Given the description of an element on the screen output the (x, y) to click on. 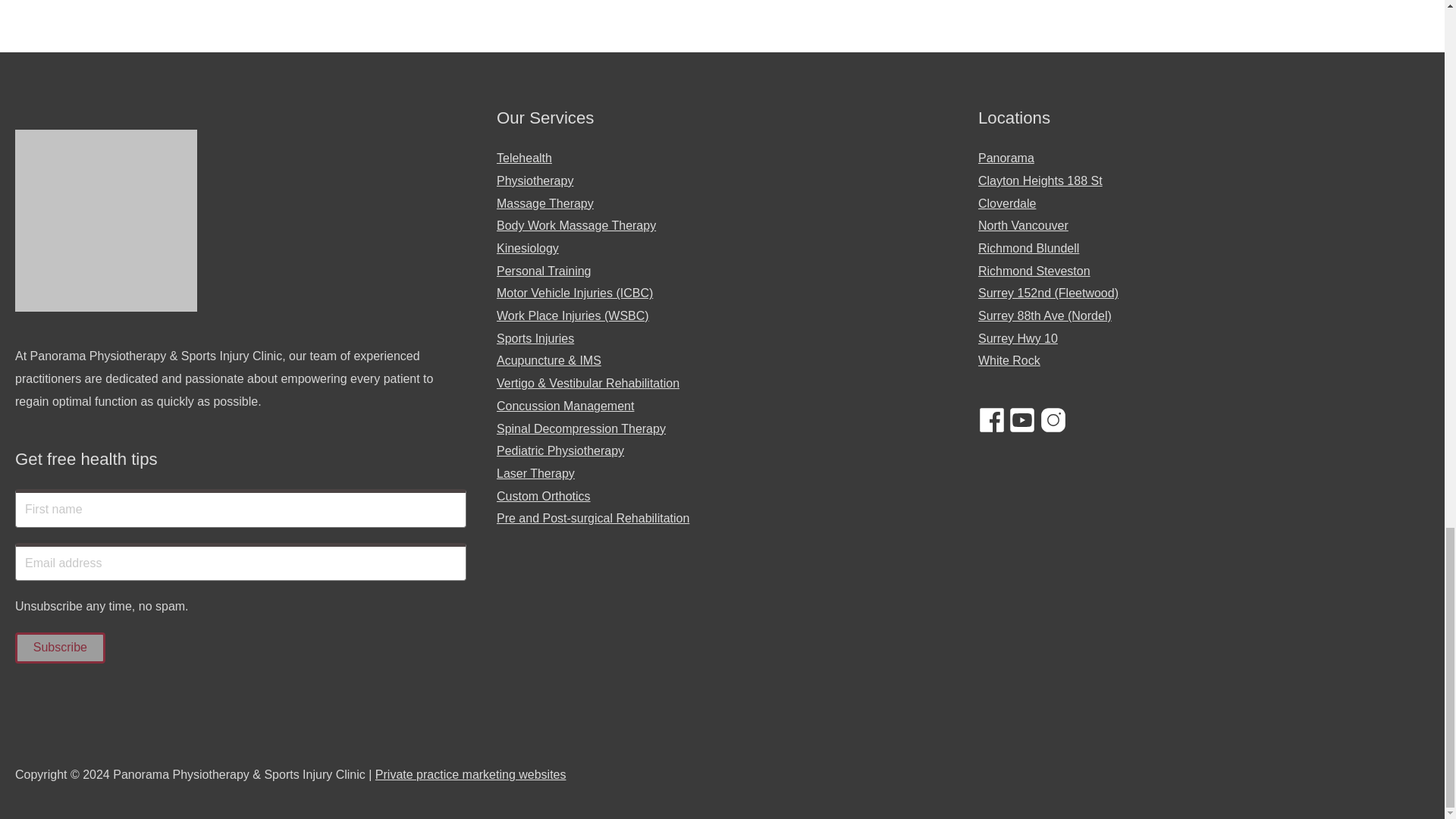
Concussion Management (564, 405)
Telehealth (523, 157)
Sports Injuries (534, 338)
Physiotherapy (534, 180)
Subscribe (59, 647)
Personal Training (543, 270)
Facebook (992, 420)
Body Work Massage Therapy (576, 225)
Kinesiology (527, 247)
YouTube (1022, 420)
Instagram (1053, 420)
Spinal Decompression Therapy (580, 428)
Massage Therapy (545, 203)
